Given the description of an element on the screen output the (x, y) to click on. 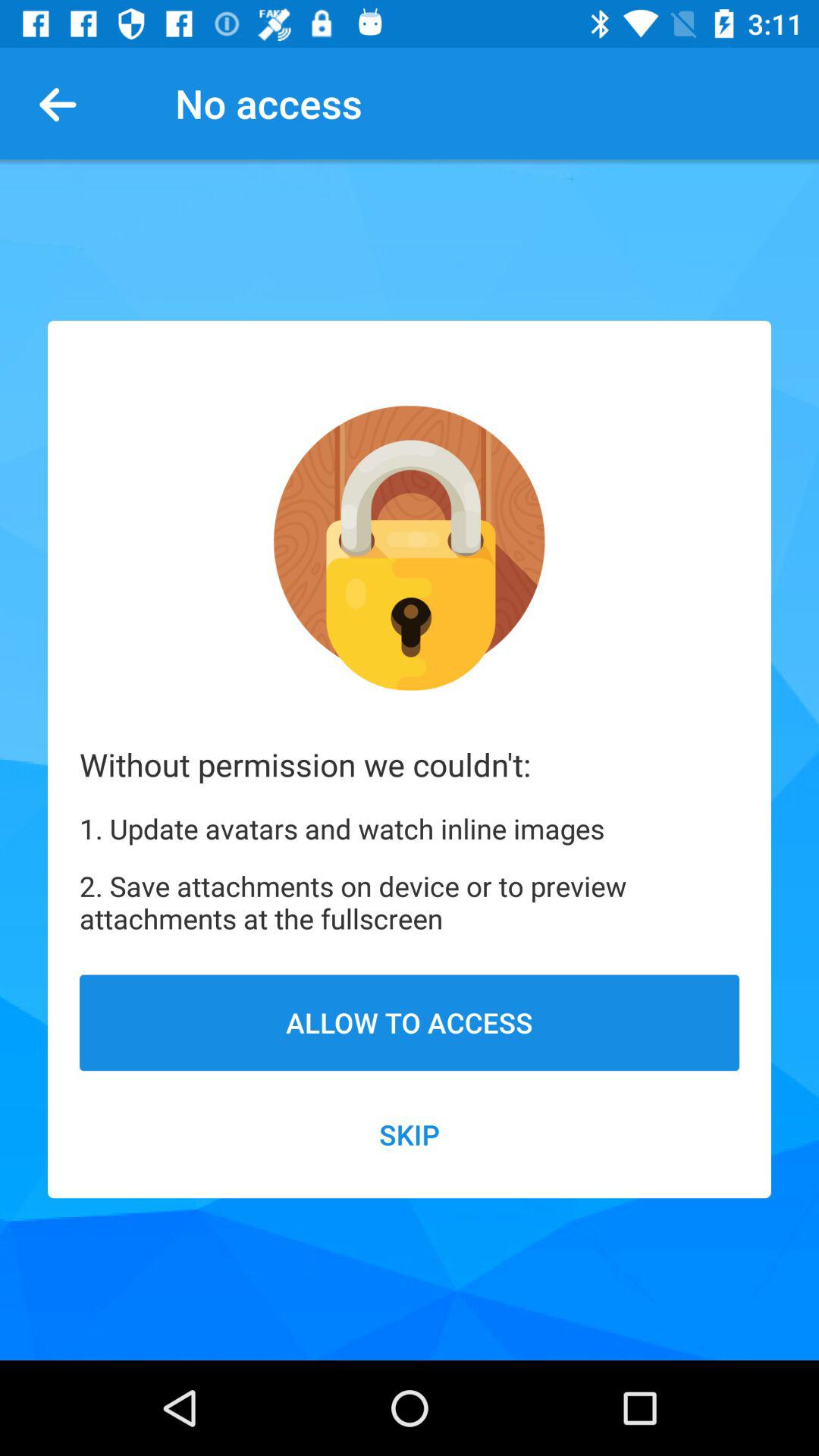
turn on the item to the left of no access app (63, 103)
